Given the description of an element on the screen output the (x, y) to click on. 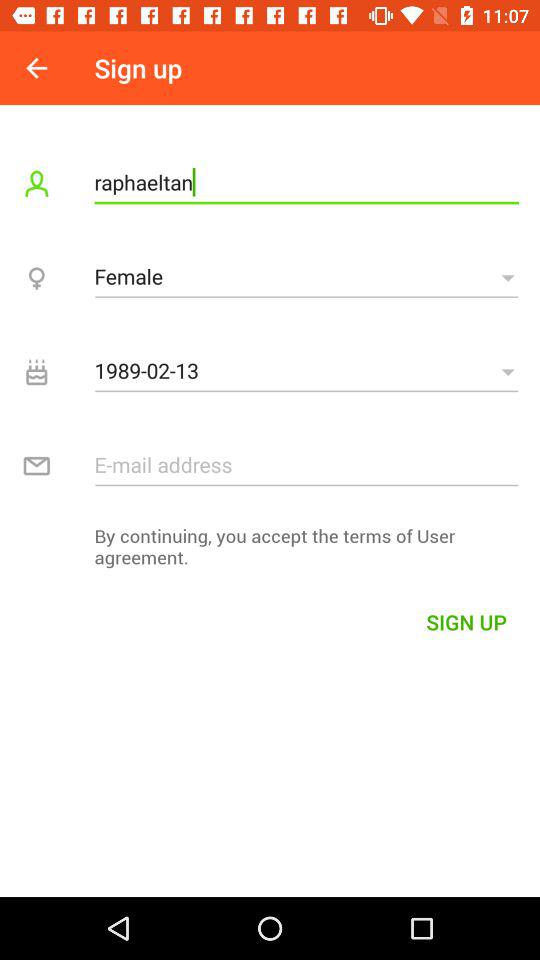
press the icon next to the sign up icon (36, 68)
